Given the description of an element on the screen output the (x, y) to click on. 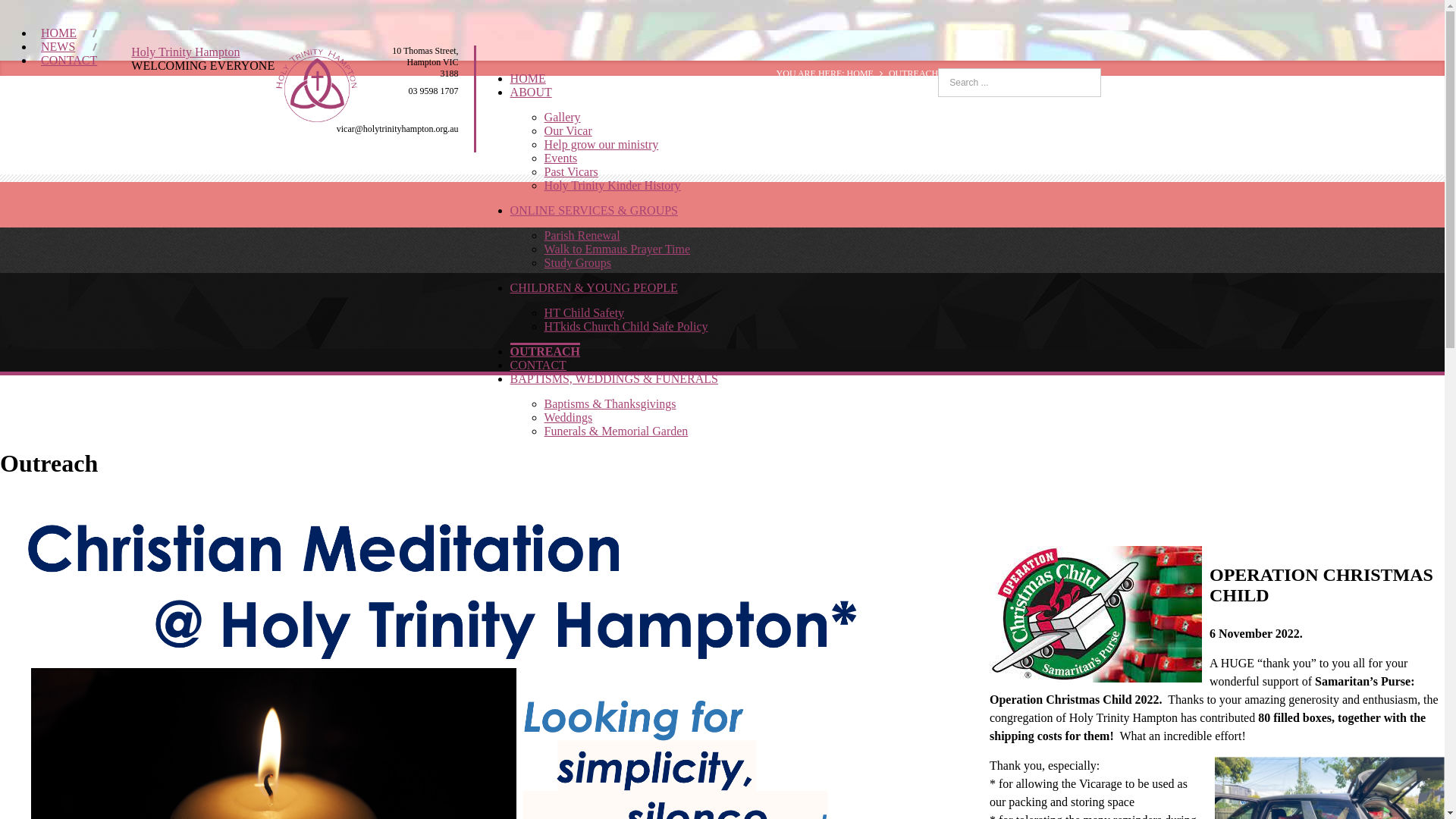
HOME Element type: text (528, 78)
ABOUT Element type: text (531, 91)
HTkids Church Child Safe Policy Element type: text (626, 326)
HOME Element type: text (58, 32)
CONTACT Element type: text (68, 59)
Study Groups Element type: text (577, 262)
Help grow our ministry Element type: text (601, 144)
HT Child Safety Element type: text (584, 312)
Walk to Emmaus Prayer Time Element type: text (617, 248)
Events Element type: text (560, 157)
Holy Trinity Hampton Element type: text (185, 51)
CONTACT Element type: text (538, 364)
CHILDREN & YOUNG PEOPLE Element type: text (593, 287)
Holy Trinity Kinder History Element type: text (612, 184)
Our Vicar Element type: text (568, 130)
Weddings Element type: text (568, 417)
OUTREACH Element type: text (545, 349)
BAPTISMS, WEDDINGS & FUNERALS Element type: text (614, 378)
Baptisms & Thanksgivings Element type: text (610, 403)
Past Vicars Element type: text (571, 171)
ONLINE SERVICES & GROUPS Element type: text (593, 209)
NEWS Element type: text (57, 46)
Gallery Element type: text (562, 116)
Parish Renewal Element type: text (582, 235)
HOME Element type: text (860, 73)
Funerals & Memorial Garden Element type: text (616, 430)
